Given the description of an element on the screen output the (x, y) to click on. 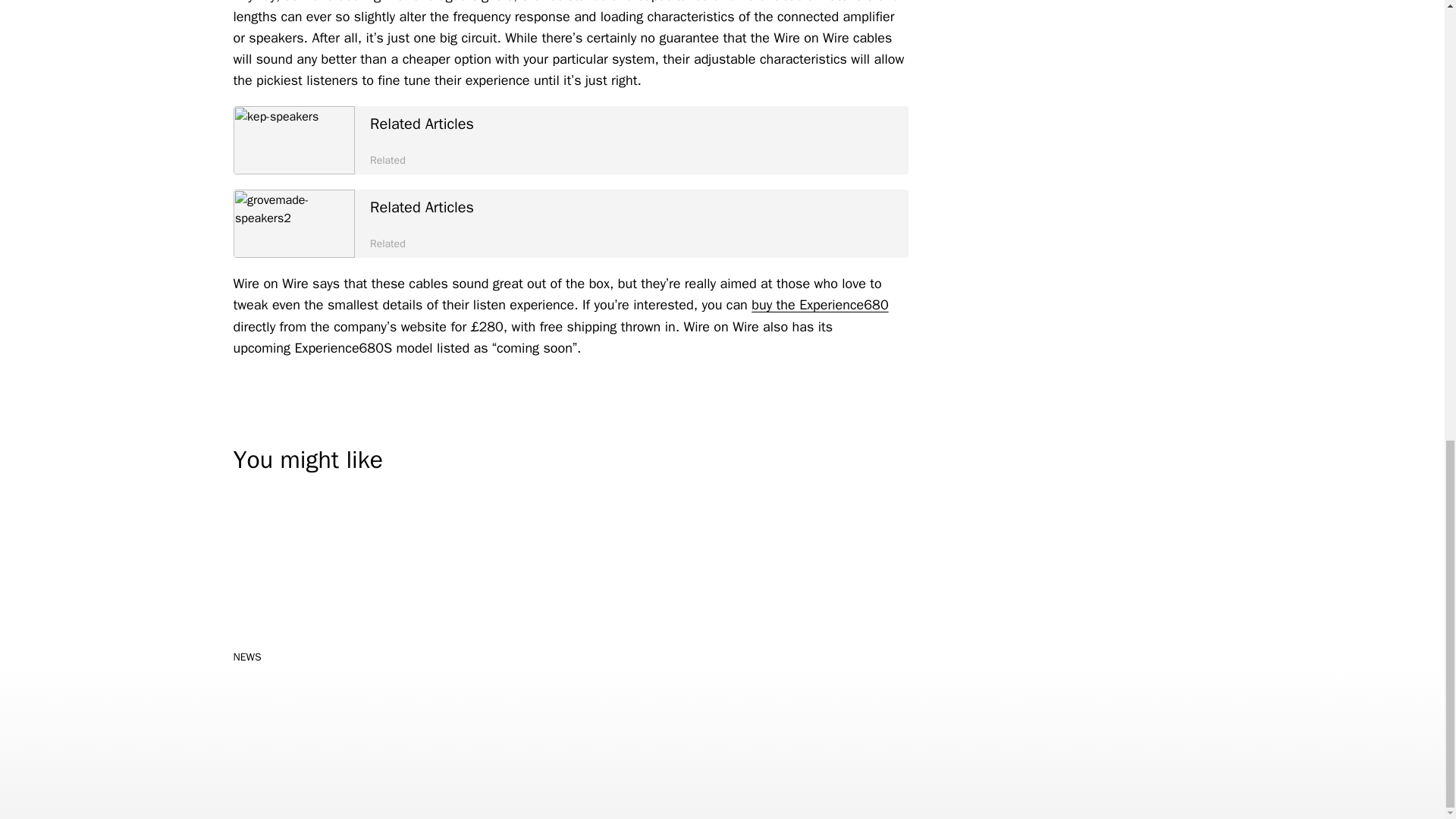
kep-speakers (293, 140)
buy the Experience680 (570, 140)
NEWS (819, 304)
grovemade-speakers2 (570, 223)
